Given the description of an element on the screen output the (x, y) to click on. 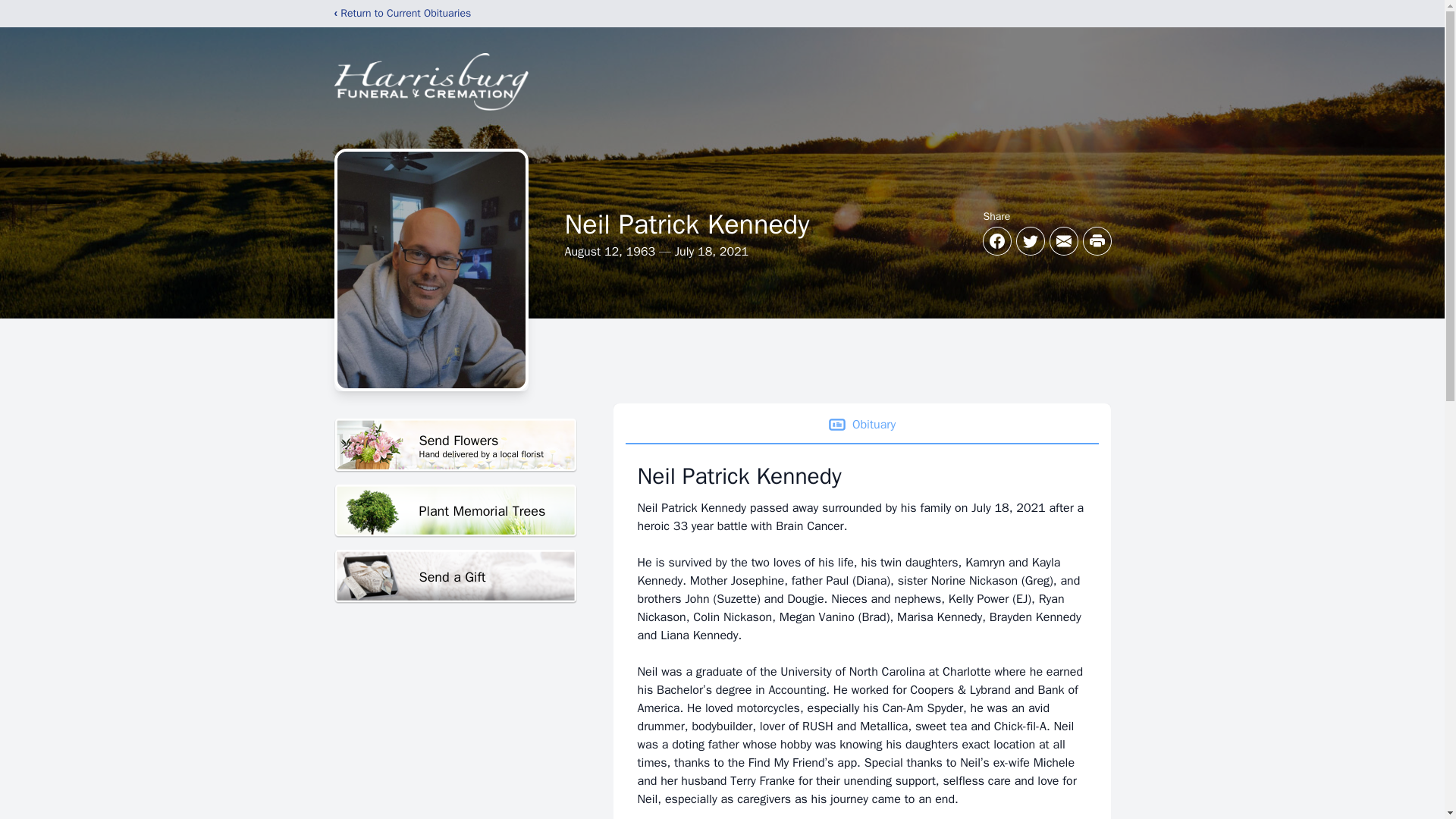
Send a Gift (454, 576)
Plant Memorial Trees (454, 511)
Obituary (860, 425)
